Given the description of an element on the screen output the (x, y) to click on. 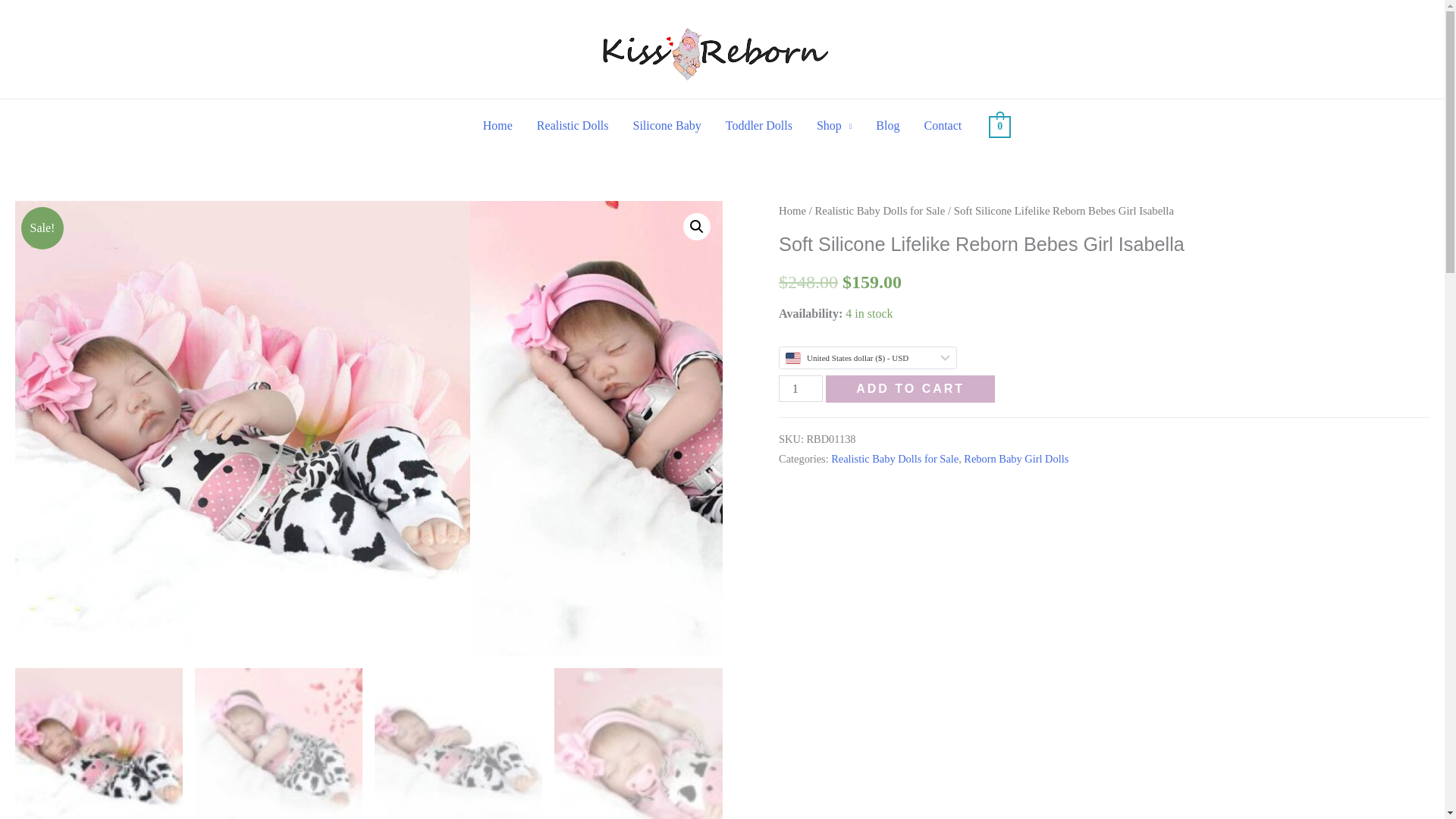
View your shopping cart (999, 124)
Toddler Dolls (759, 125)
Home (497, 125)
Blog (887, 125)
Realistic Baby Dolls for Sale (879, 210)
Shop (834, 125)
Realistic Dolls (572, 125)
Silicone Baby (667, 125)
